Given the description of an element on the screen output the (x, y) to click on. 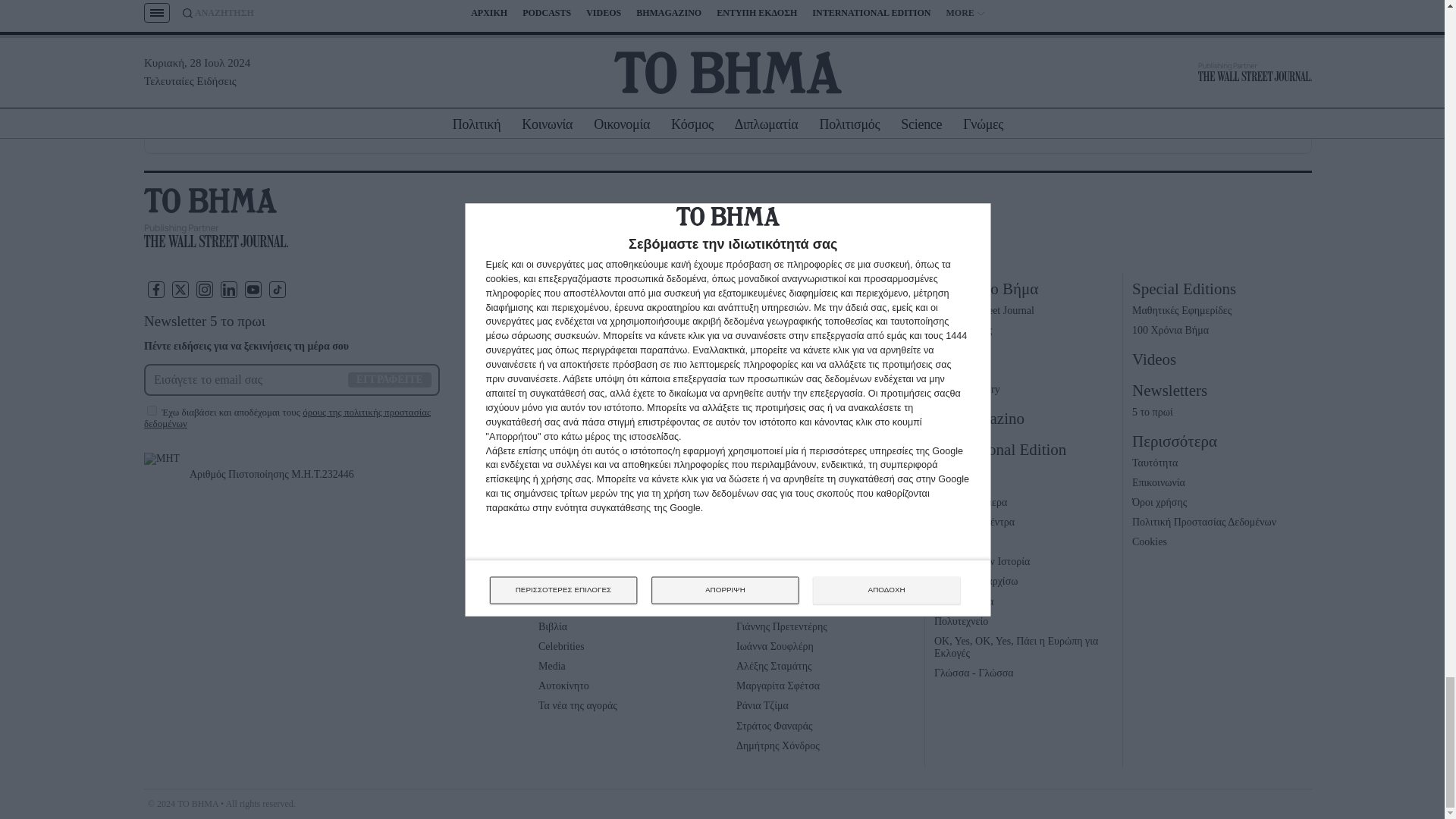
on (152, 410)
